Given the description of an element on the screen output the (x, y) to click on. 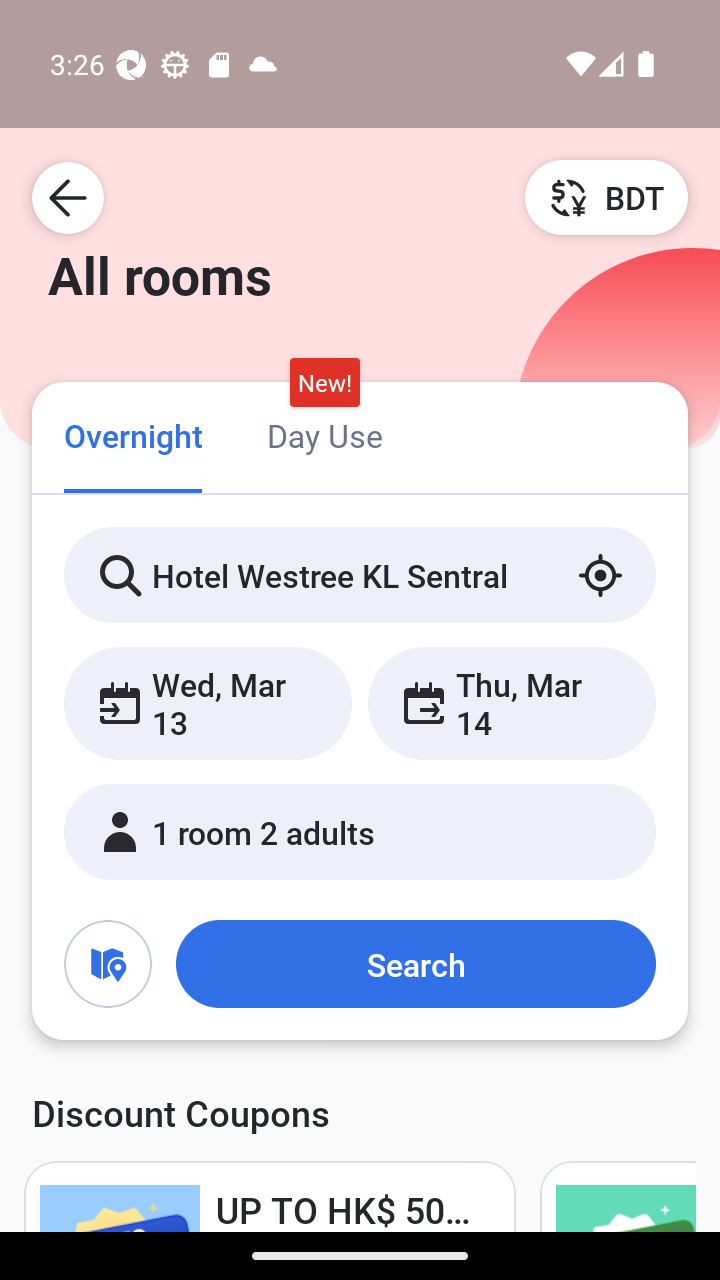
BDT (606, 197)
New! (324, 383)
Day Use (324, 434)
Hotel Westree KL Sentral (359, 575)
Wed, Mar 13 (208, 703)
Thu, Mar 14 (511, 703)
1 room 2 adults (359, 831)
Search (415, 964)
